Given the description of an element on the screen output the (x, y) to click on. 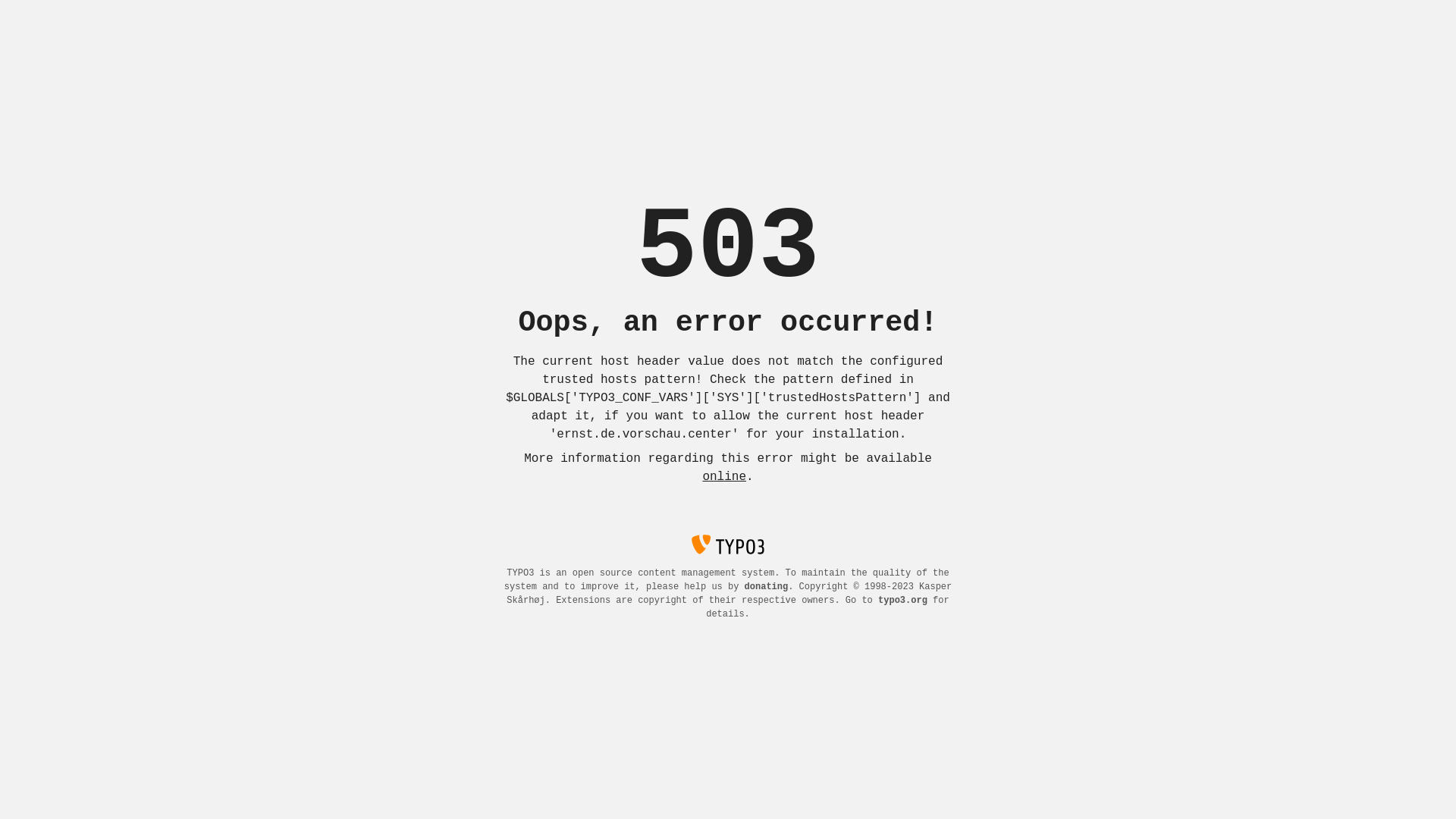
donating Element type: text (766, 586)
online Element type: text (724, 476)
typo3.org Element type: text (902, 600)
